Given the description of an element on the screen output the (x, y) to click on. 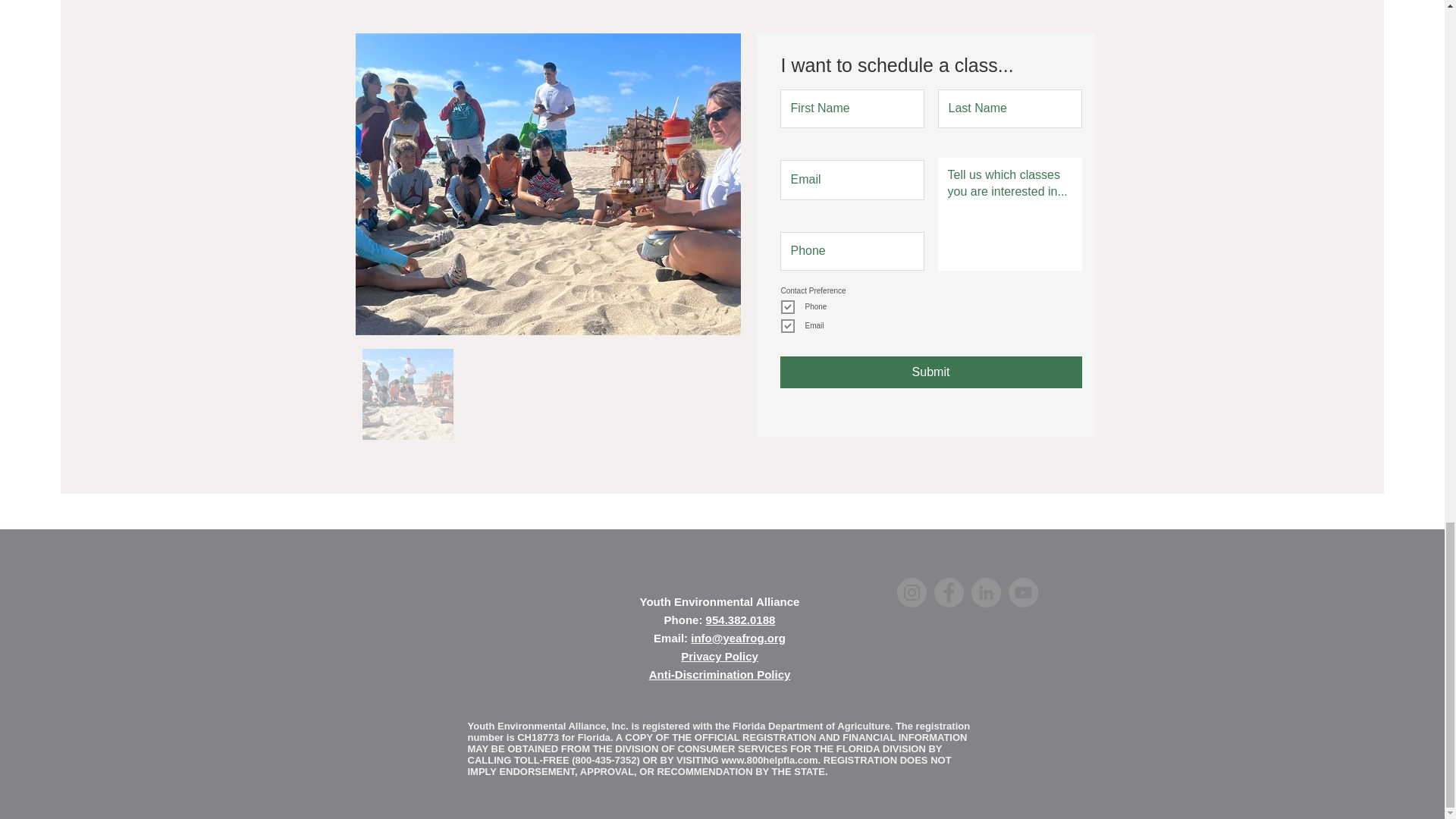
Embedded Content (1059, 737)
Submit (929, 372)
Anti-Discrimination Policy (719, 674)
954.382.0188 (741, 619)
Embedded Content (451, 627)
www.800helpfla.com (768, 759)
Privacy Policy (719, 656)
